Given the description of an element on the screen output the (x, y) to click on. 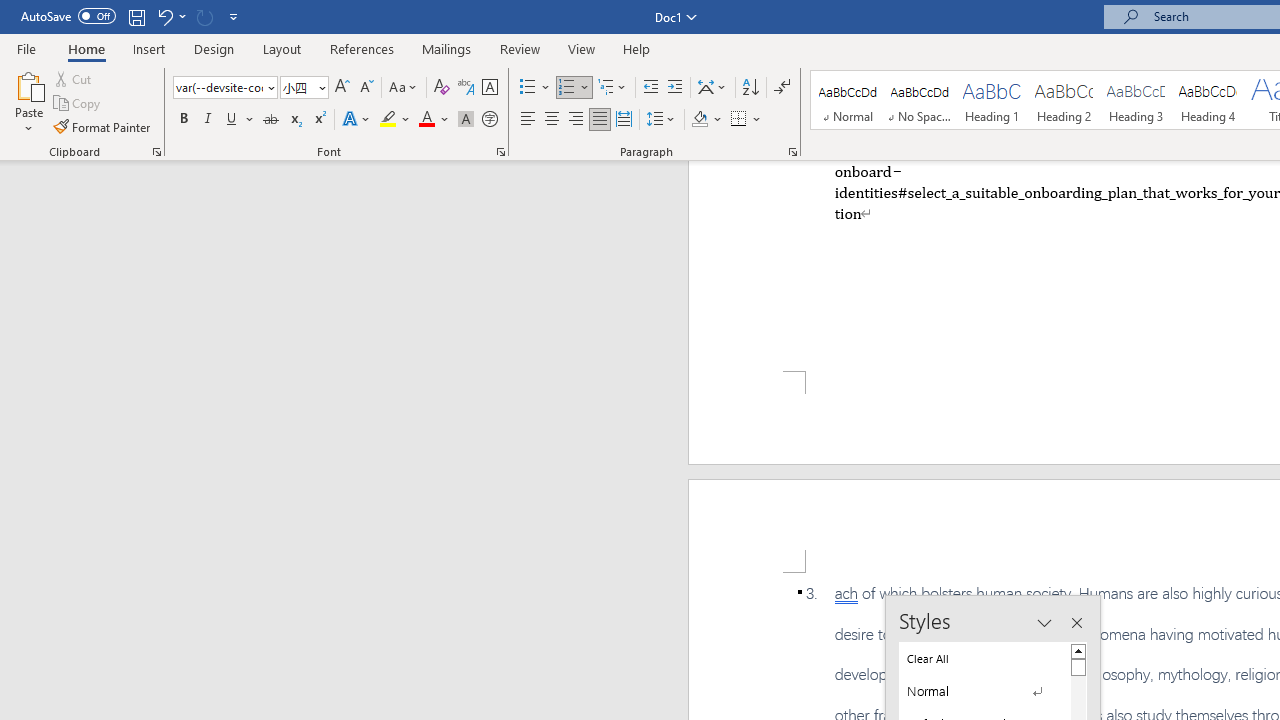
Asian Layout (712, 87)
Text Highlight Color (395, 119)
References (362, 48)
Strikethrough (270, 119)
Home (86, 48)
Heading 4 (1208, 100)
Justify (599, 119)
System (10, 11)
Subscript (294, 119)
Borders (739, 119)
